Given the description of an element on the screen output the (x, y) to click on. 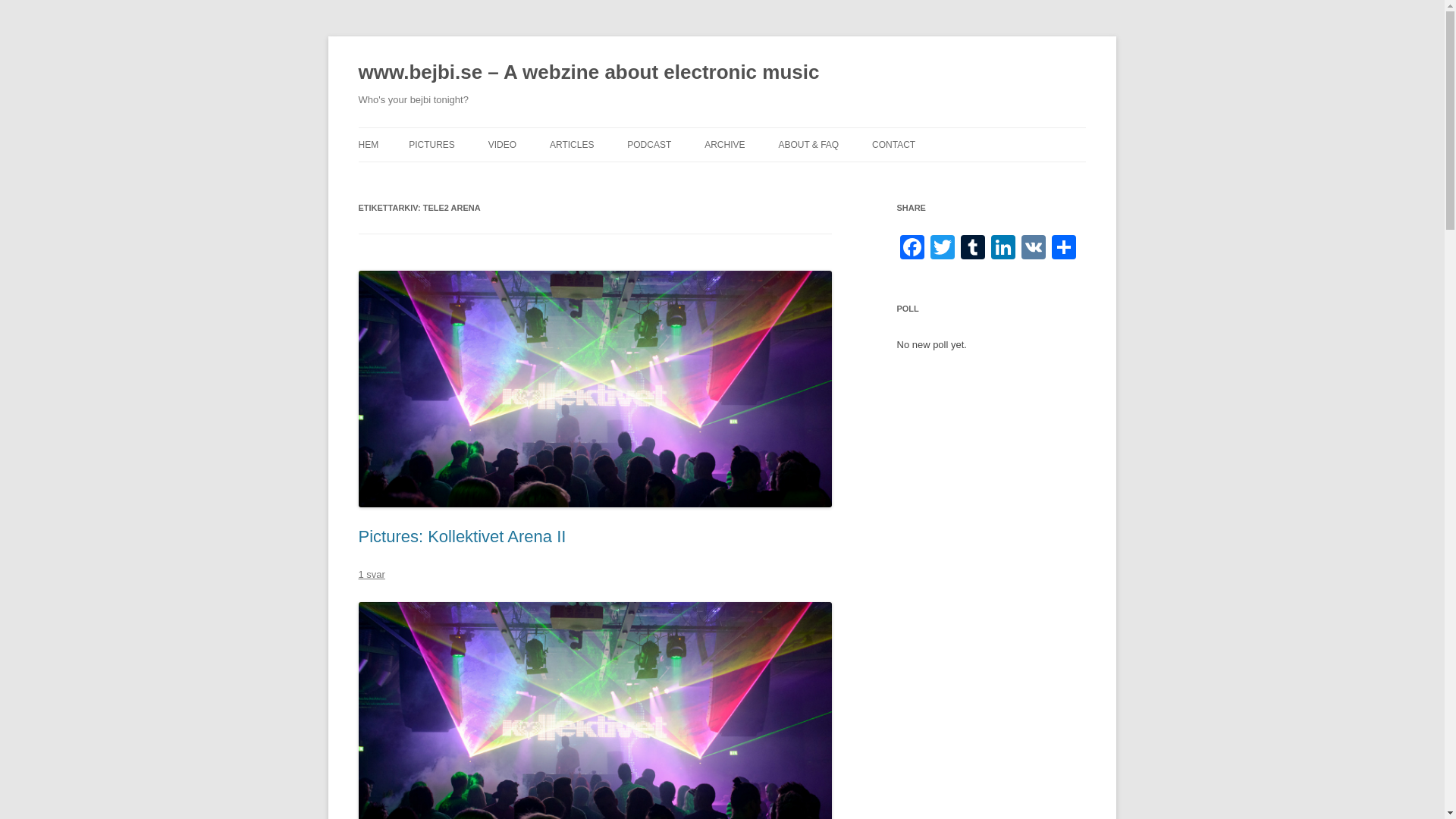
AFTERMOVIE (625, 176)
LinkedIn (1002, 248)
PODCAST (649, 144)
ADVERTISE ON BEJBI.SE (853, 176)
PICTURES (431, 144)
CONNECT ON FACEBOOK (947, 176)
VK (1032, 248)
Tumblr (971, 248)
Twitter (941, 248)
Pictures: Kollektivet Arena II (462, 536)
